Given the description of an element on the screen output the (x, y) to click on. 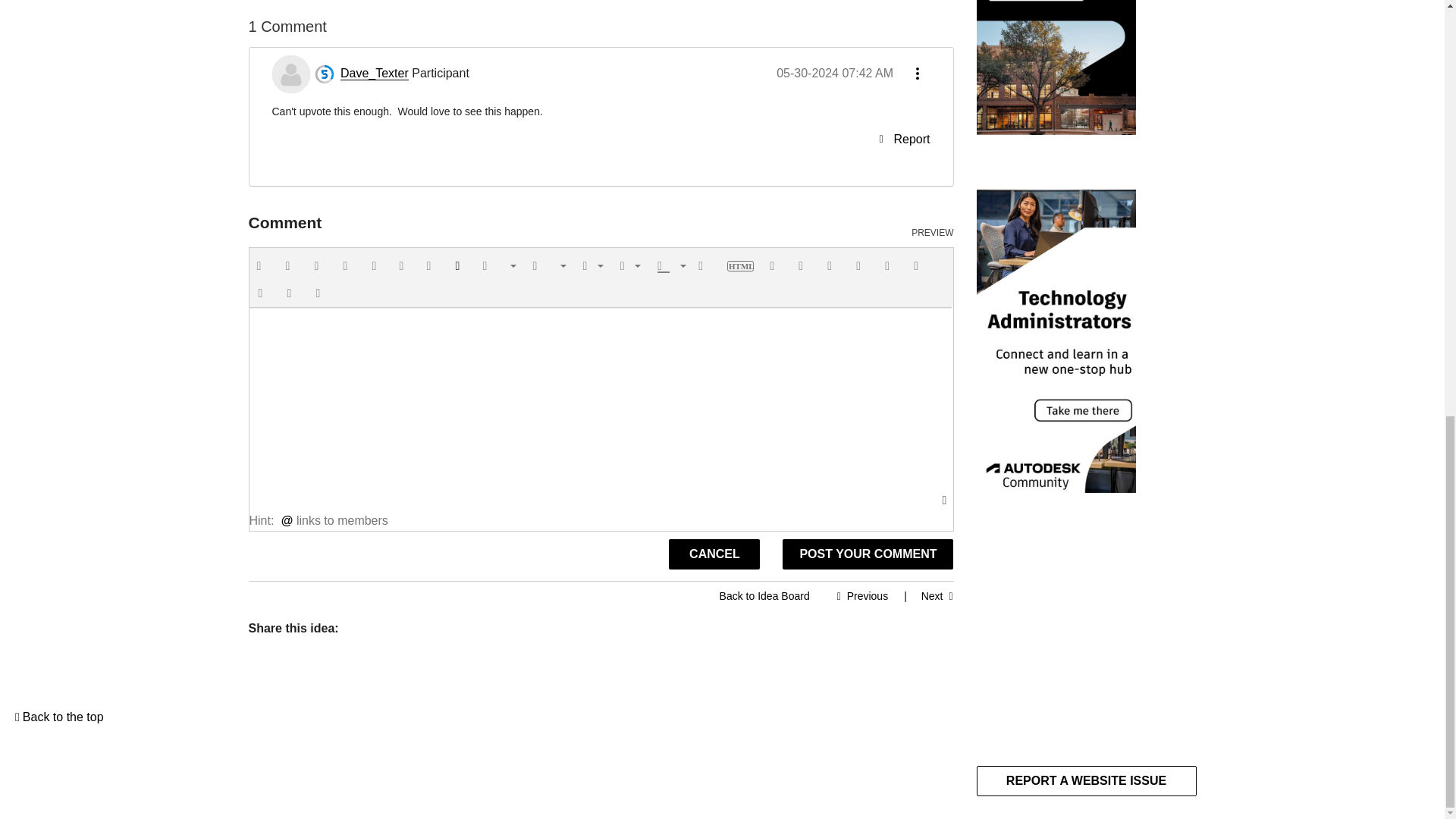
Post Your Comment (868, 553)
Back to the top (59, 716)
Back to the top (59, 716)
Cancel (714, 553)
